Given the description of an element on the screen output the (x, y) to click on. 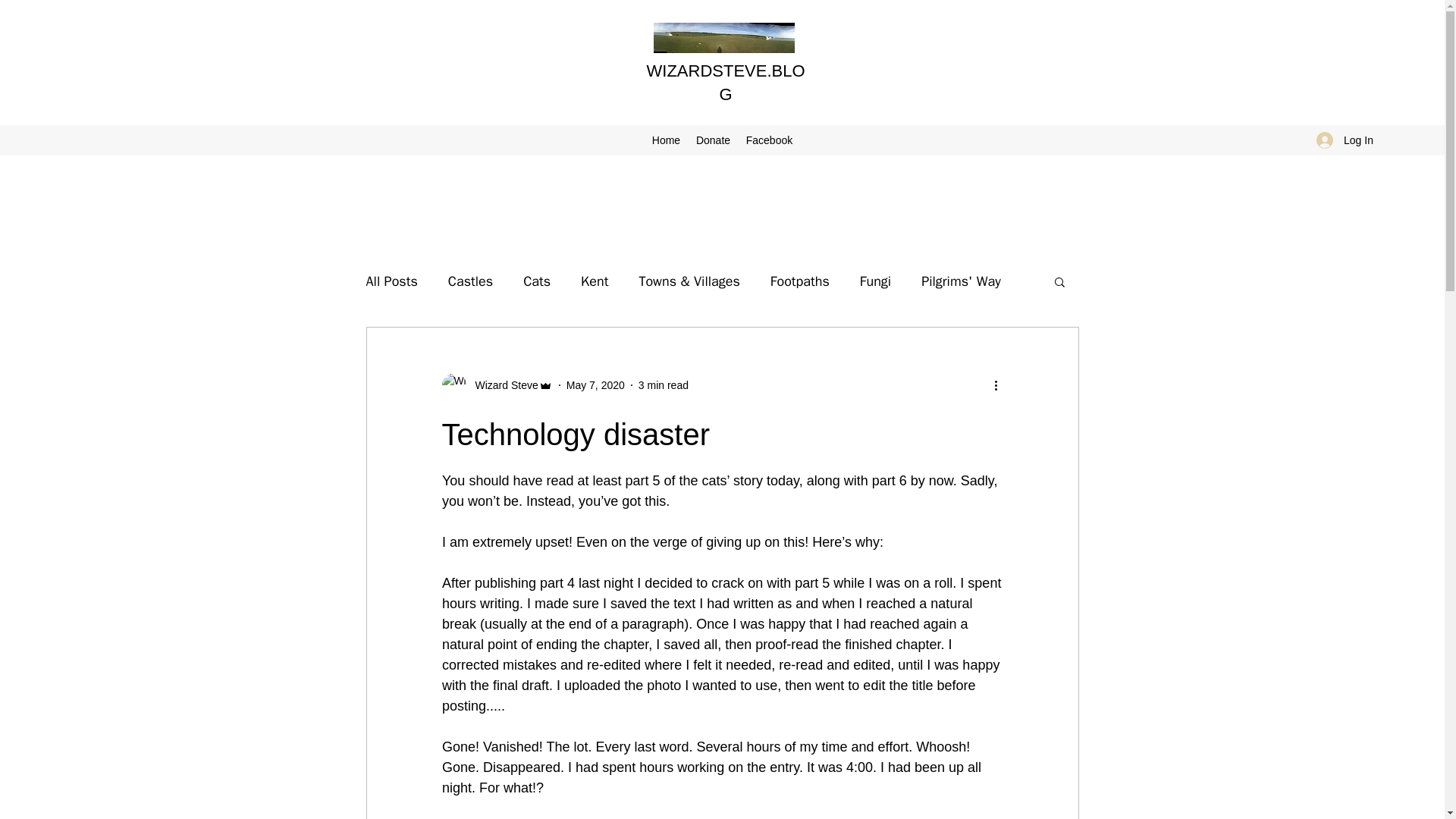
Footpaths (799, 280)
Pilgrims' Way (961, 280)
3 min read (663, 385)
Fungi (875, 280)
Home (665, 139)
Kent (594, 280)
Donate (712, 139)
Log In (1345, 139)
Wizard Steve (496, 385)
Facebook (768, 139)
